Given the description of an element on the screen output the (x, y) to click on. 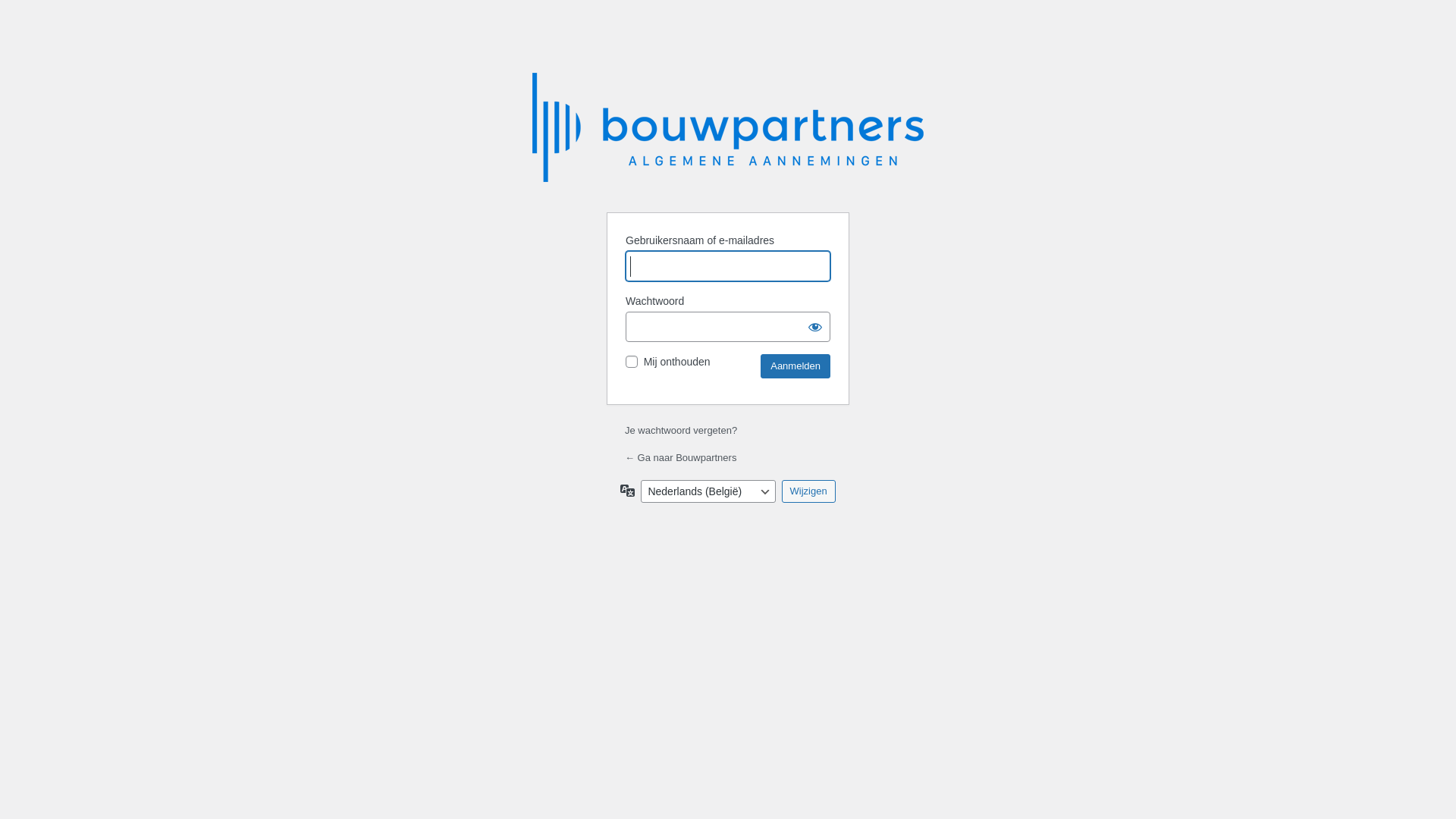
Mogelijk gemaakt door WordPress Element type: text (730, 132)
Aanmelden Element type: text (795, 366)
Je wachtwoord vergeten? Element type: text (680, 430)
Wijzigen Element type: text (808, 491)
